Given the description of an element on the screen output the (x, y) to click on. 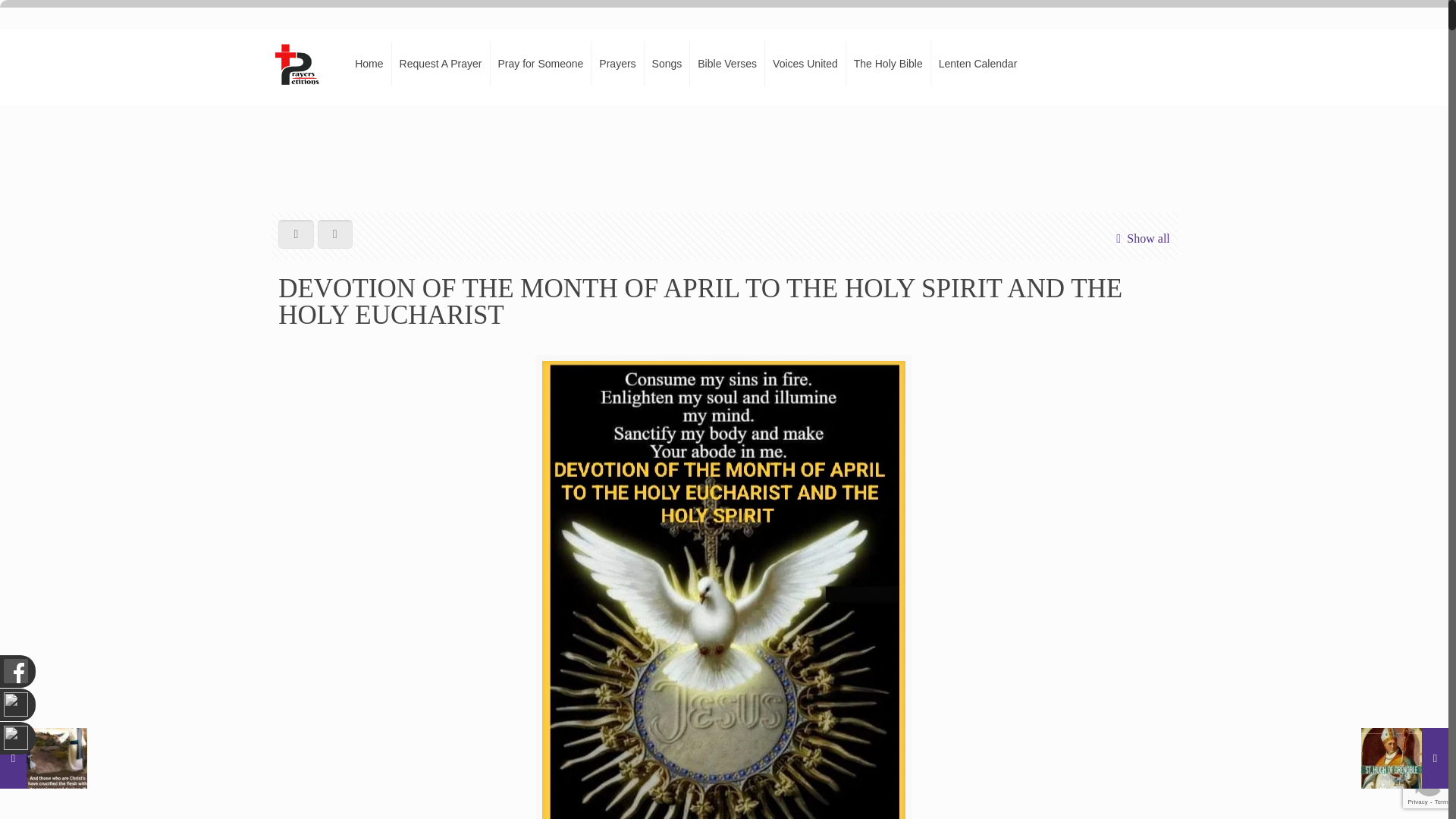
Pray for Someone (540, 63)
Lenten Calendar (978, 63)
Voices United (805, 63)
Request A Prayer (440, 63)
The Holy Bible (888, 63)
Show all (1139, 238)
Bible Verses (727, 63)
